Given the description of an element on the screen output the (x, y) to click on. 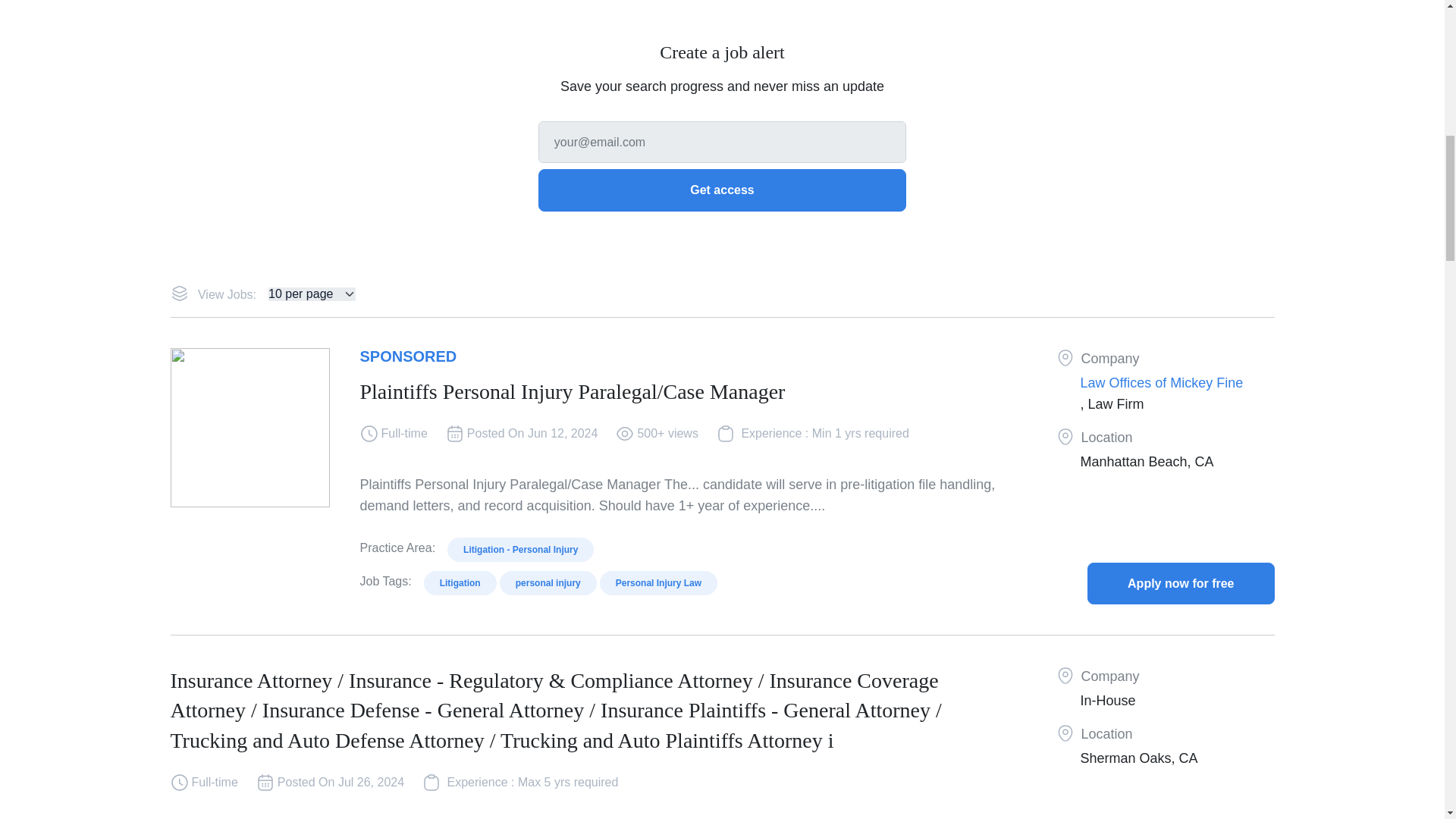
Legal Staff Paralegal in Manhattan Beach, CA (1180, 583)
Law Offices of Mickey Fine (1161, 382)
